Given the description of an element on the screen output the (x, y) to click on. 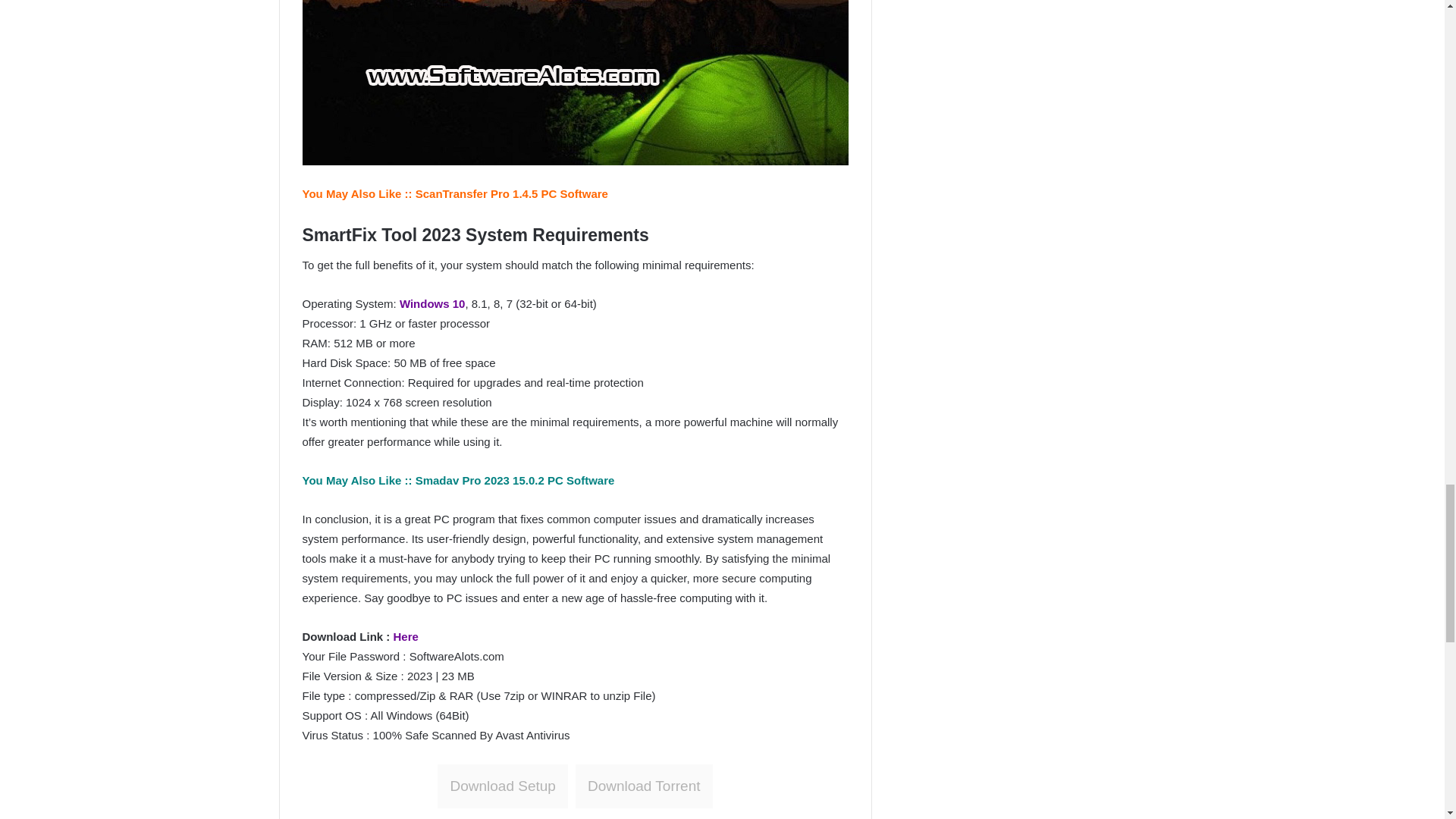
Download Setup (502, 786)
ScanTransfer Pro 1.4.5 PC Software (511, 193)
Download Torrent (644, 786)
Download SetupDownload Torrent (574, 786)
Windows 10 (431, 303)
Here (405, 635)
Smadav Pro 2023 15.0.2 PC Software (514, 480)
SmartFix Tool 2023 PC Software with keygen (574, 82)
